Given the description of an element on the screen output the (x, y) to click on. 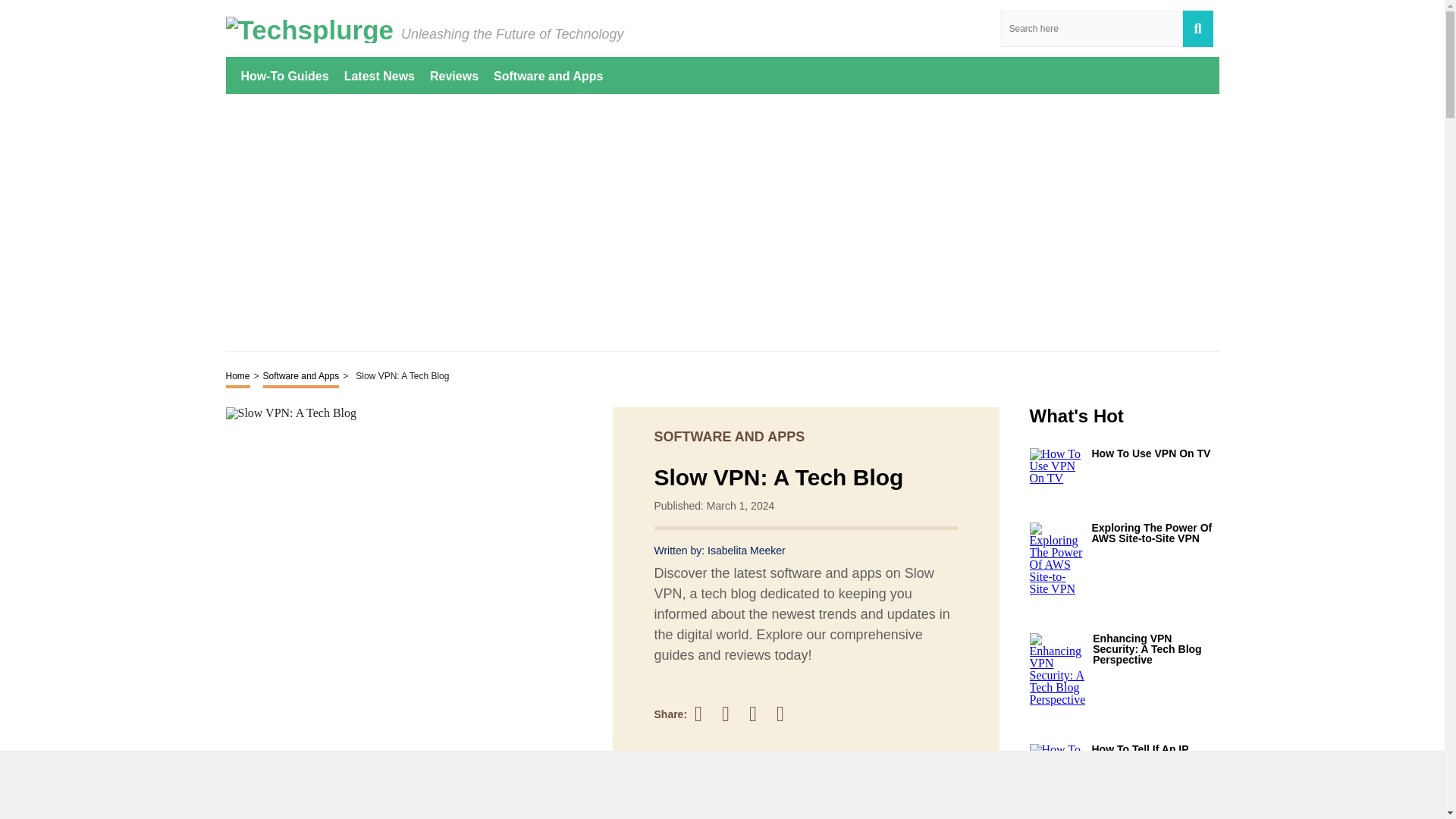
Isabelita Meeker (746, 550)
Reviews (454, 74)
Share on WhatsApp (786, 713)
Software and Apps (547, 74)
Home (237, 377)
Latest News (378, 74)
How-To Guides (285, 74)
Share on Facebook (705, 713)
VPN (245, 809)
How To Use VPN On TV (1156, 452)
Share on Twitter (732, 713)
Software and Apps (301, 377)
Share on Pinterest (759, 713)
